Given the description of an element on the screen output the (x, y) to click on. 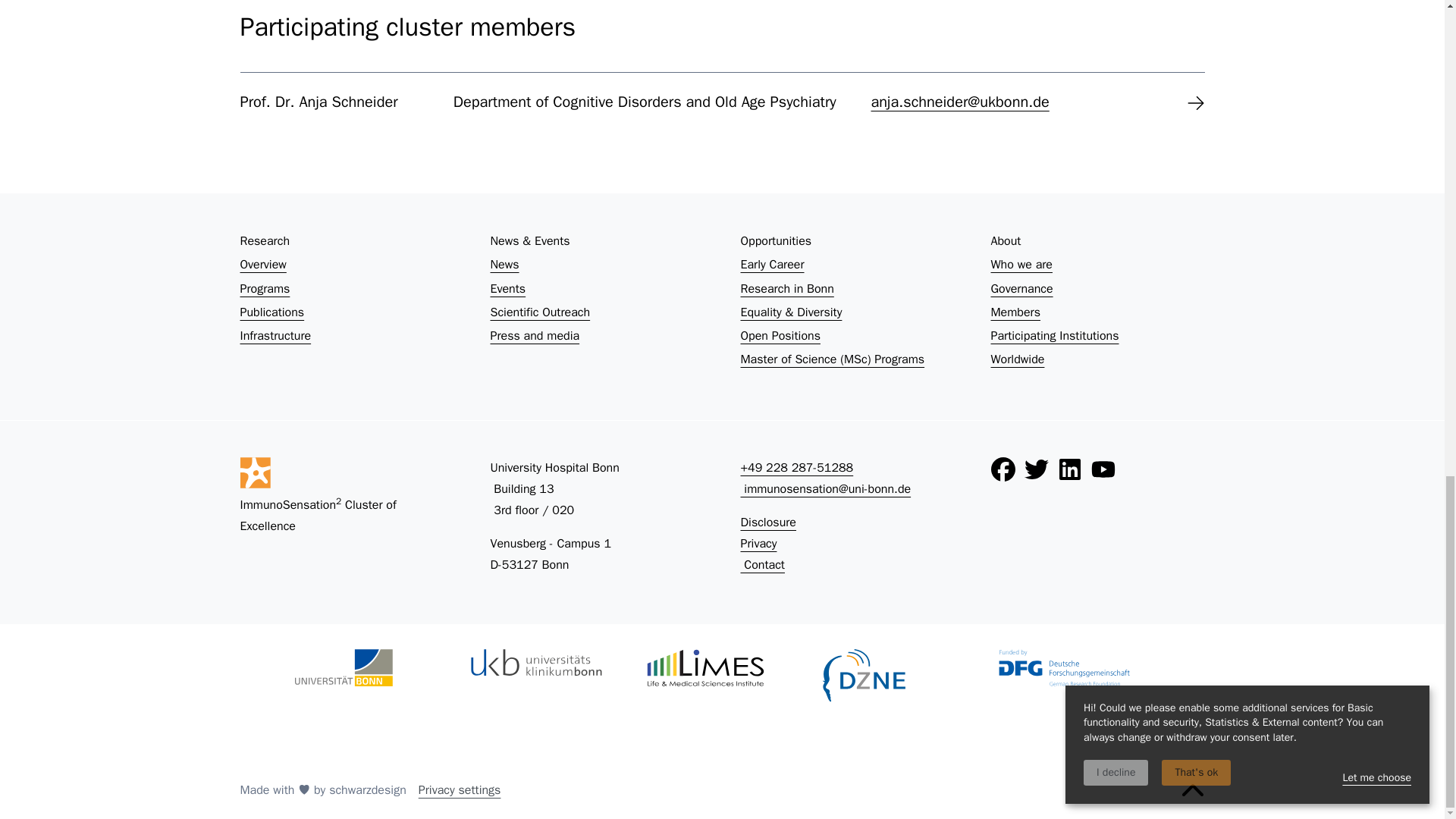
Programs (346, 288)
Publications (346, 311)
Overview (346, 264)
News (596, 264)
Events (596, 288)
Infrastructure (346, 335)
